Given the description of an element on the screen output the (x, y) to click on. 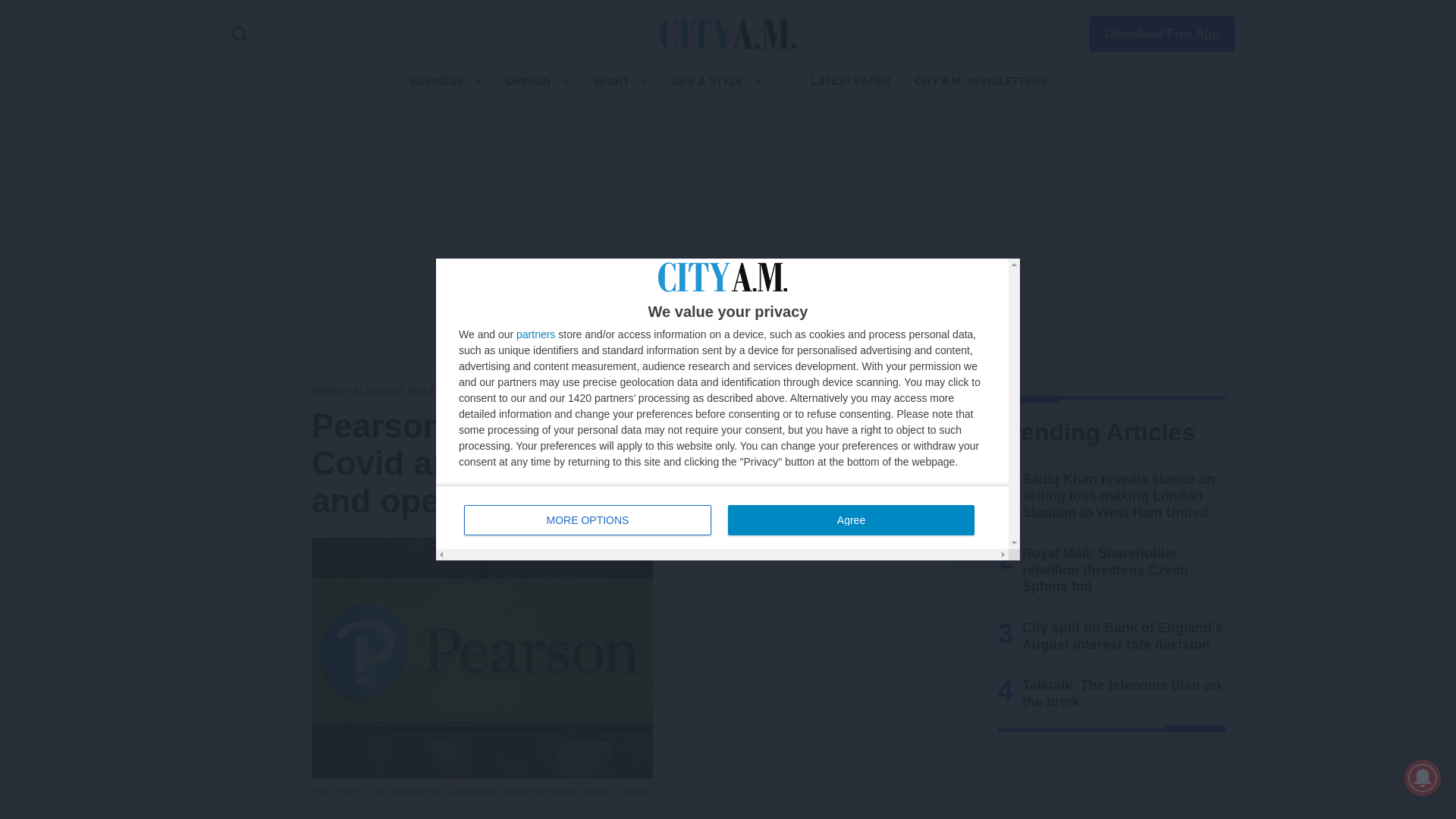
CityAM (727, 33)
OPINION (527, 80)
BUSINESS (436, 80)
Download Free App (722, 516)
partners (1152, 30)
MORE OPTIONS (535, 334)
Agree (587, 520)
